Given the description of an element on the screen output the (x, y) to click on. 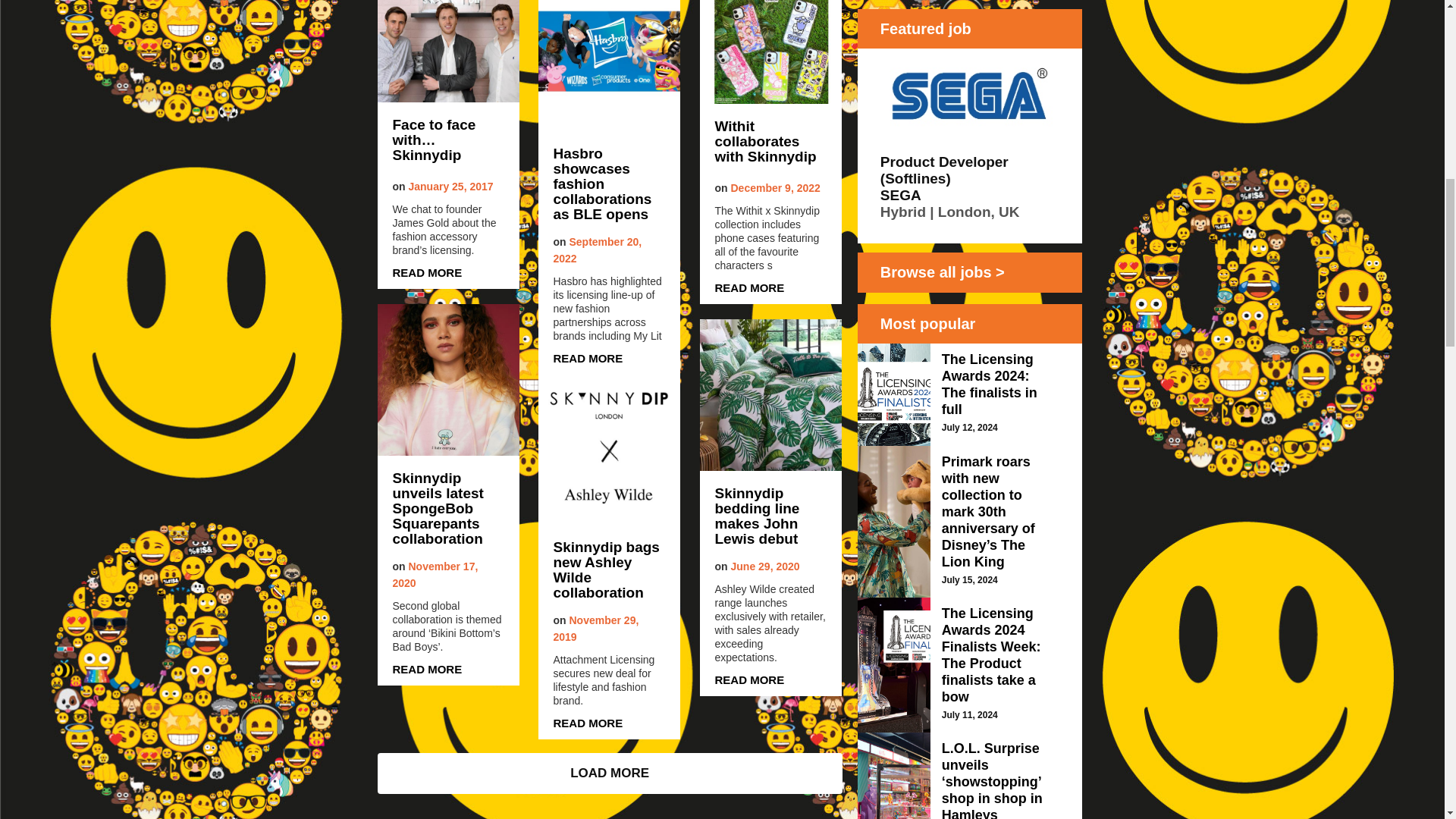
Hasbro showcases fashion collaborations as BLE opens (609, 183)
Withit collaborates with Skinnydip (770, 143)
Skinnydip bedding line makes John Lewis debut (770, 516)
Skinnydip bags new Ashley Wilde collaboration (609, 569)
Skinnydip unveils latest SpongeBob Squarepants collaboration (449, 508)
